Given the description of an element on the screen output the (x, y) to click on. 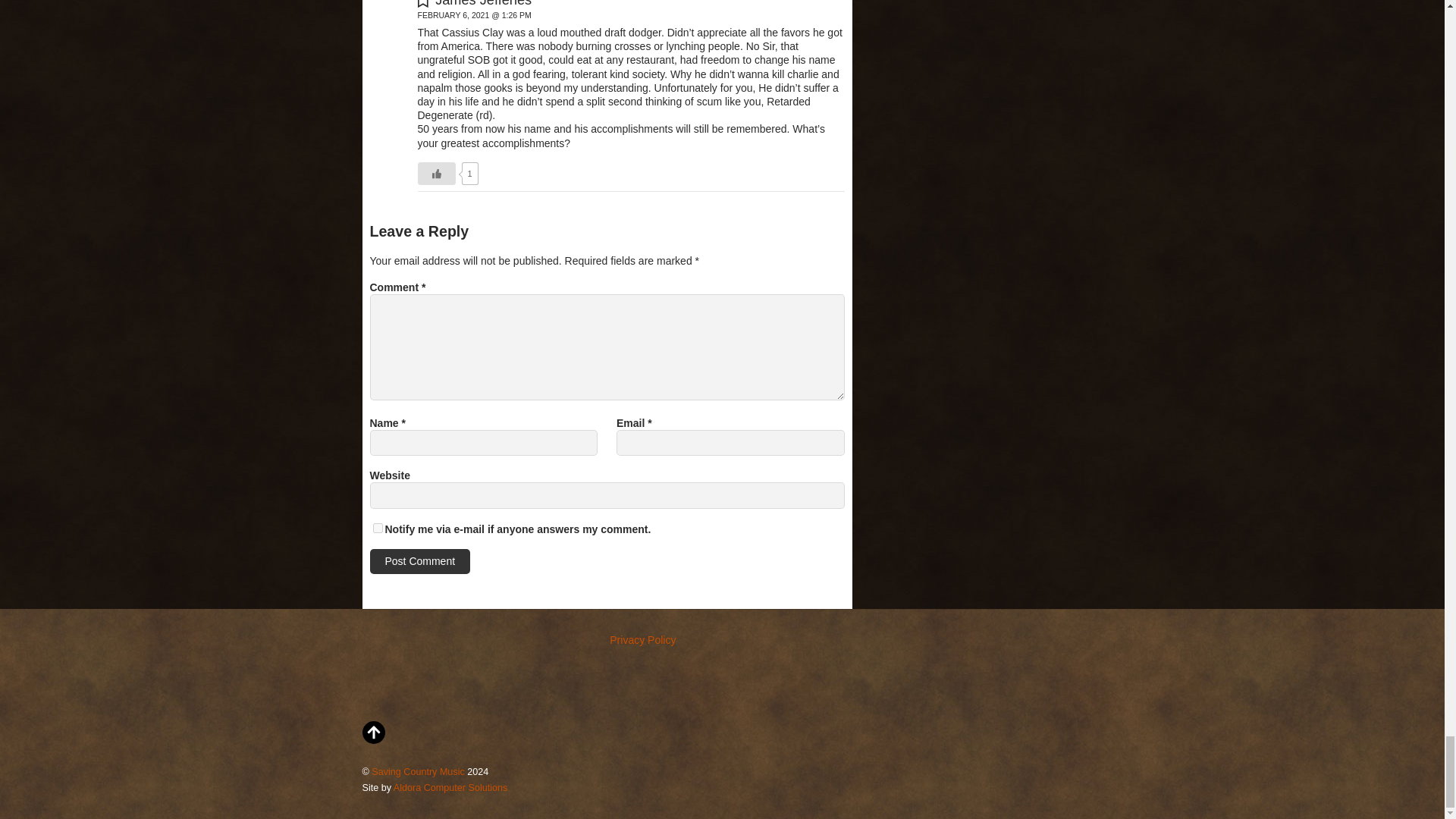
on (377, 528)
Post Comment (419, 560)
